Given the description of an element on the screen output the (x, y) to click on. 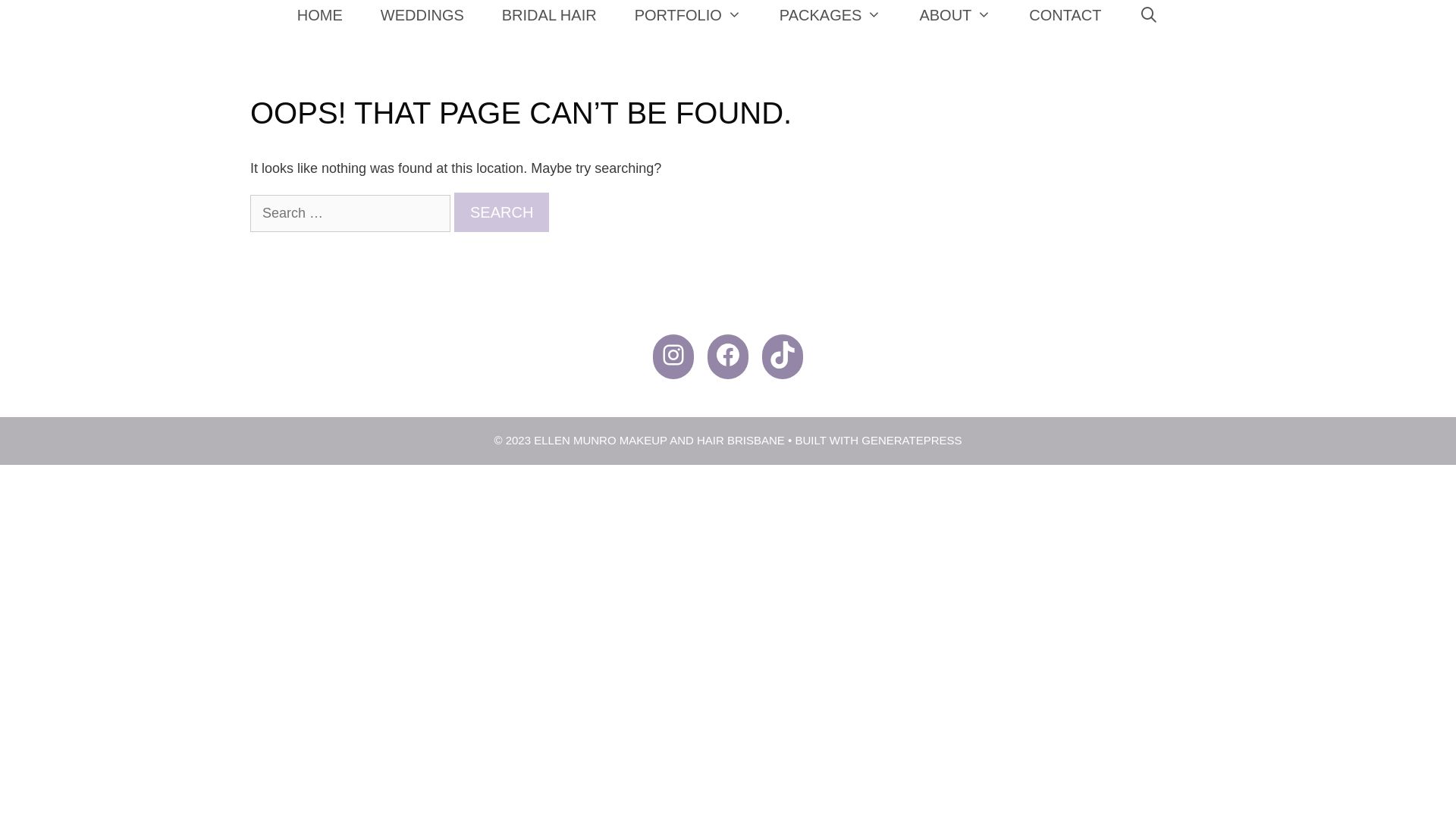
HOME Element type: text (319, 15)
GENERATEPRESS Element type: text (911, 439)
Search Element type: text (501, 212)
Search for: Element type: hover (350, 213)
PORTFOLIO Element type: text (687, 15)
ABOUT Element type: text (955, 15)
Instagram Element type: text (672, 354)
TikTok Element type: text (782, 354)
CONTACT Element type: text (1065, 15)
BRIDAL HAIR Element type: text (549, 15)
Facebook Element type: text (727, 354)
WEDDINGS Element type: text (422, 15)
PACKAGES Element type: text (830, 15)
